Given the description of an element on the screen output the (x, y) to click on. 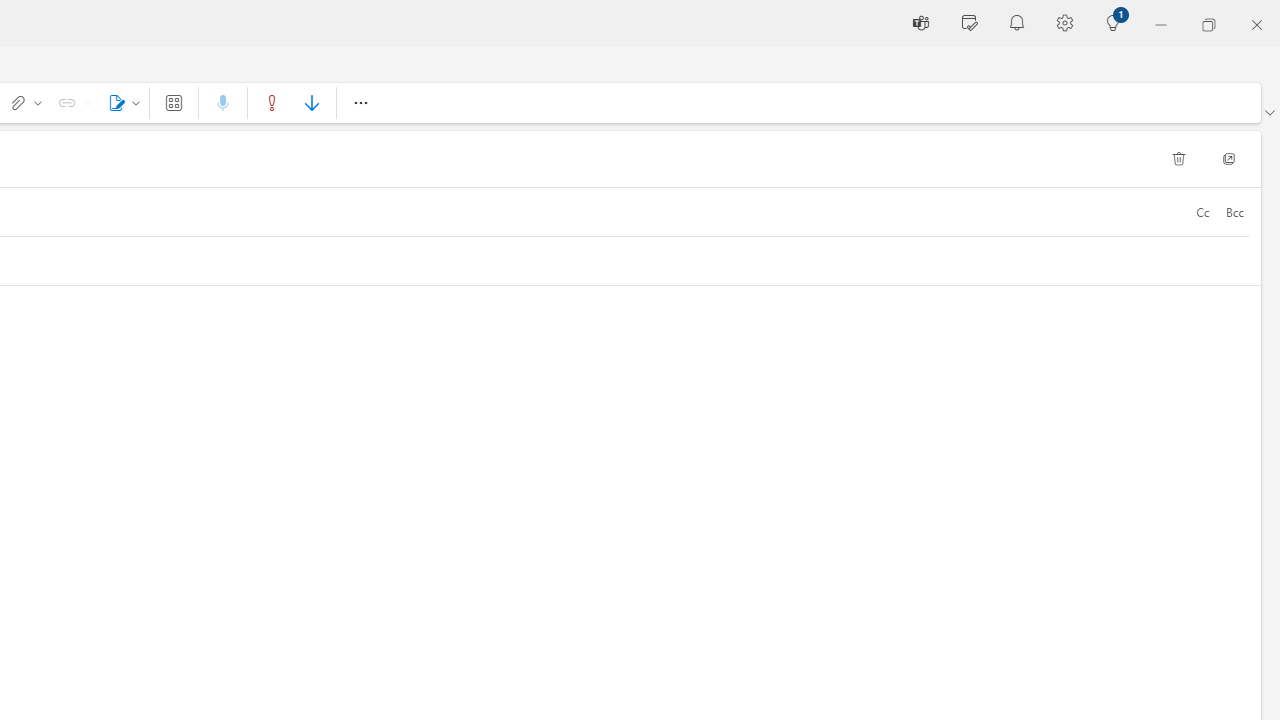
Discard (1178, 158)
Apps (173, 102)
Dictate (223, 102)
Pop Out (1229, 158)
Cc (1202, 211)
Bcc (1234, 211)
Ribbon display options (1269, 112)
More options (360, 102)
High importance (271, 102)
Low importance (311, 102)
Signature (120, 102)
Link (71, 102)
